Given the description of an element on the screen output the (x, y) to click on. 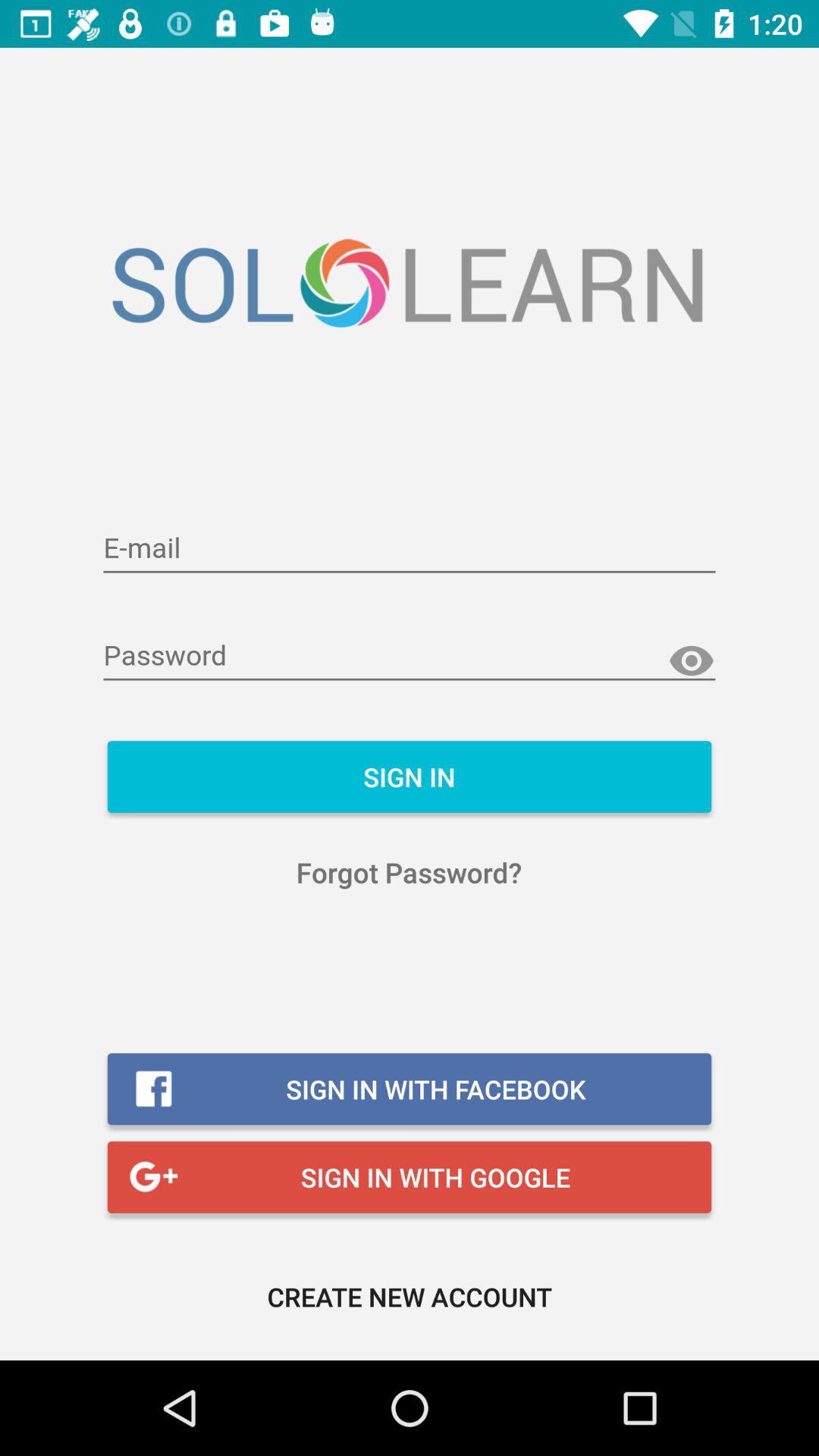
scroll to the create new account (409, 1296)
